Given the description of an element on the screen output the (x, y) to click on. 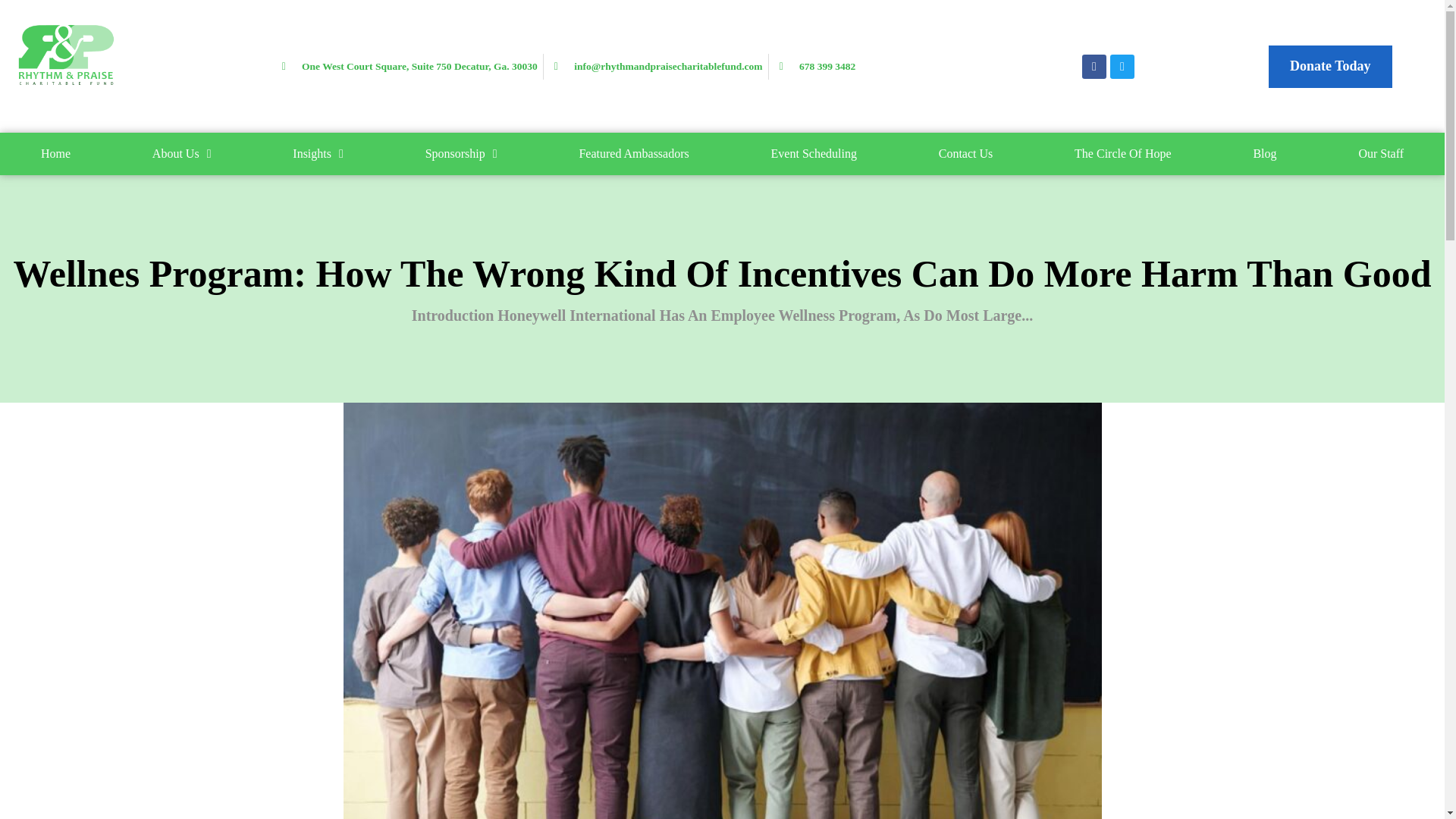
Donate Today (1329, 66)
Featured Ambassadors (634, 153)
Blog (1264, 153)
Home (56, 153)
About Us (181, 153)
Sponsorship (461, 153)
678 399 3482 (815, 66)
Contact Us (965, 153)
Insights (317, 153)
Event Scheduling (814, 153)
